Given the description of an element on the screen output the (x, y) to click on. 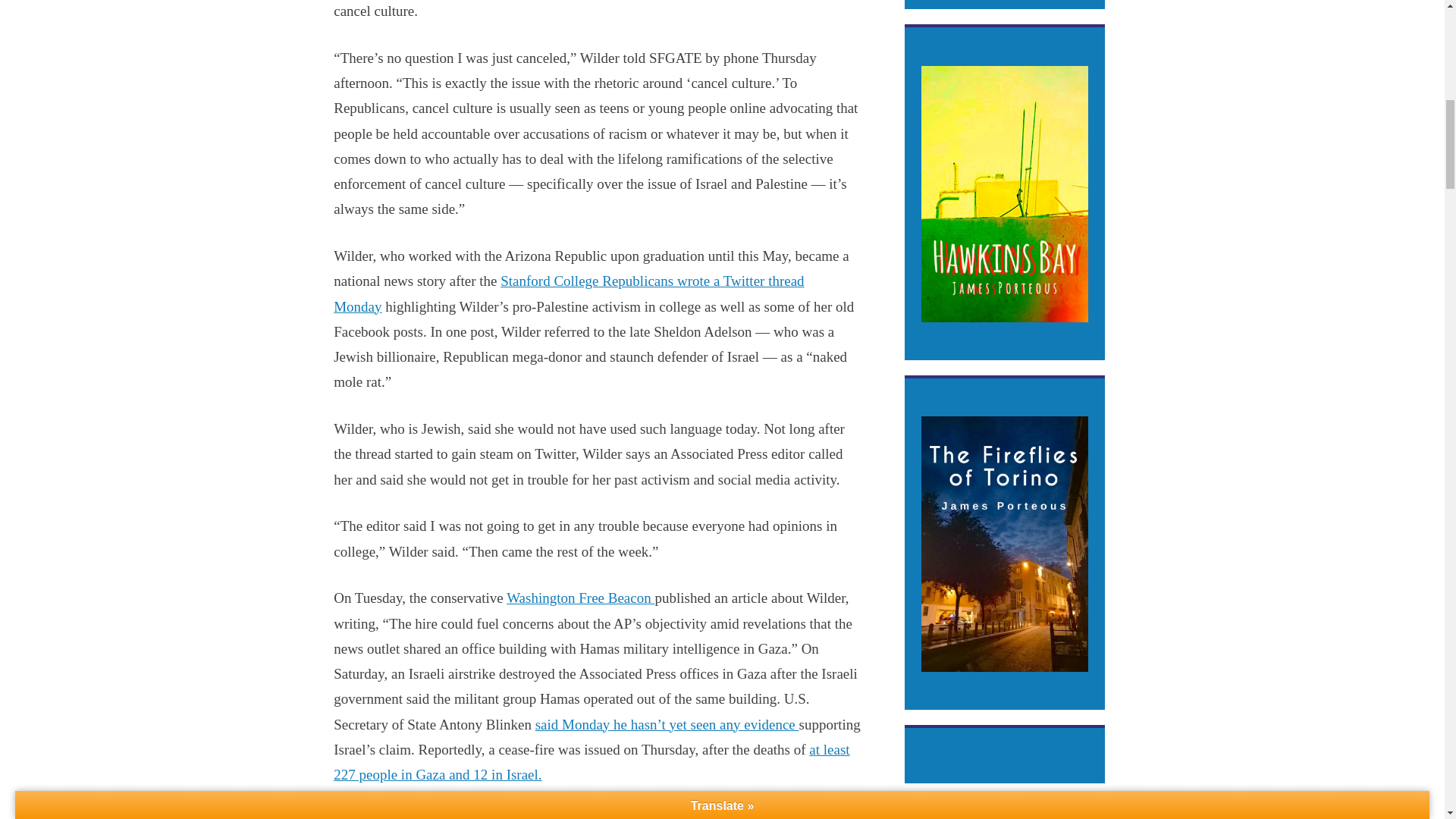
Washington Free Beacon  (579, 597)
Stanford College Republicans wrote a Twitter thread Monday (568, 292)
at least 227 people in Gaza and 12 in Israel. (590, 762)
